Given the description of an element on the screen output the (x, y) to click on. 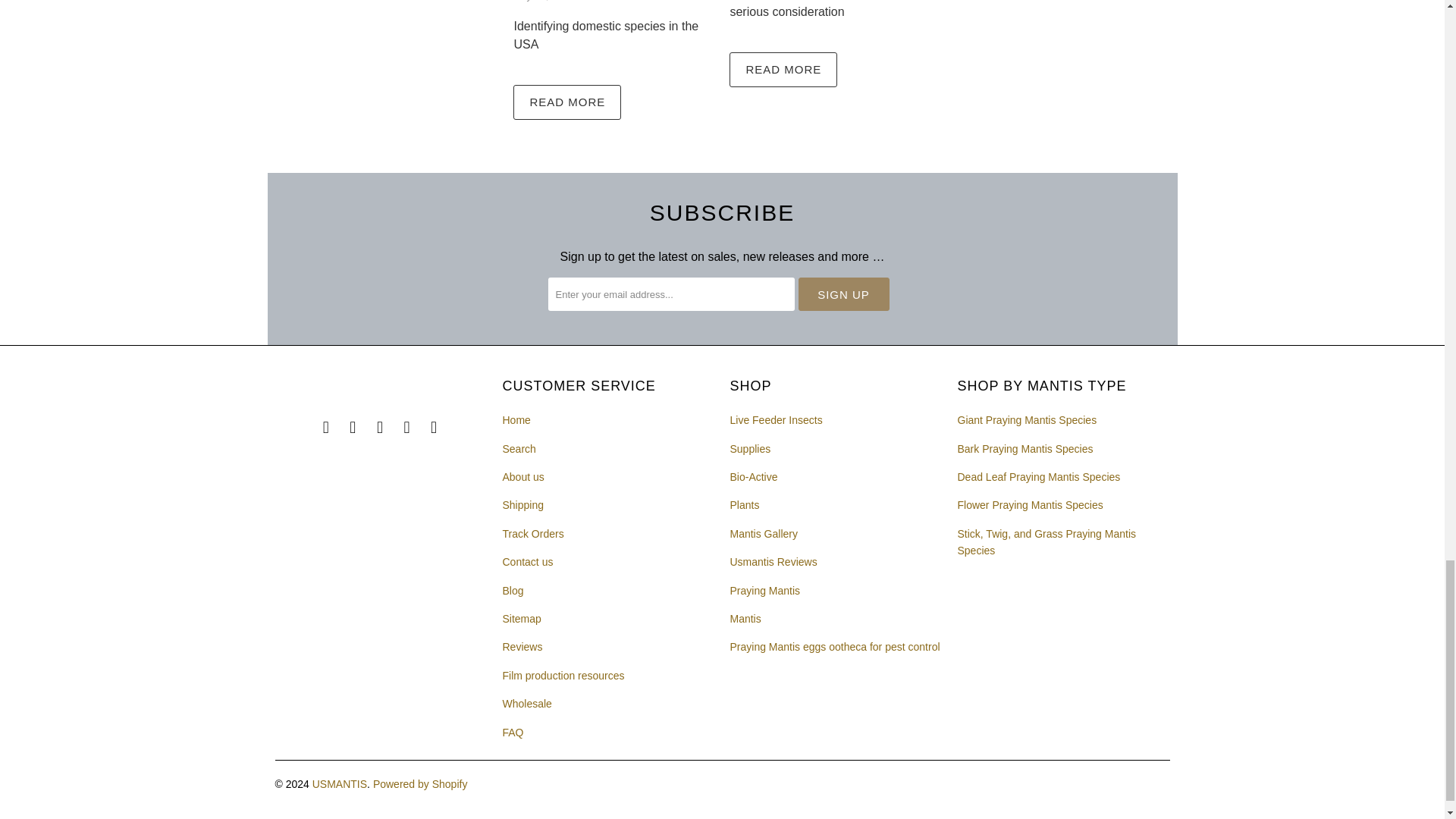
Sign Up (842, 294)
